Given the description of an element on the screen output the (x, y) to click on. 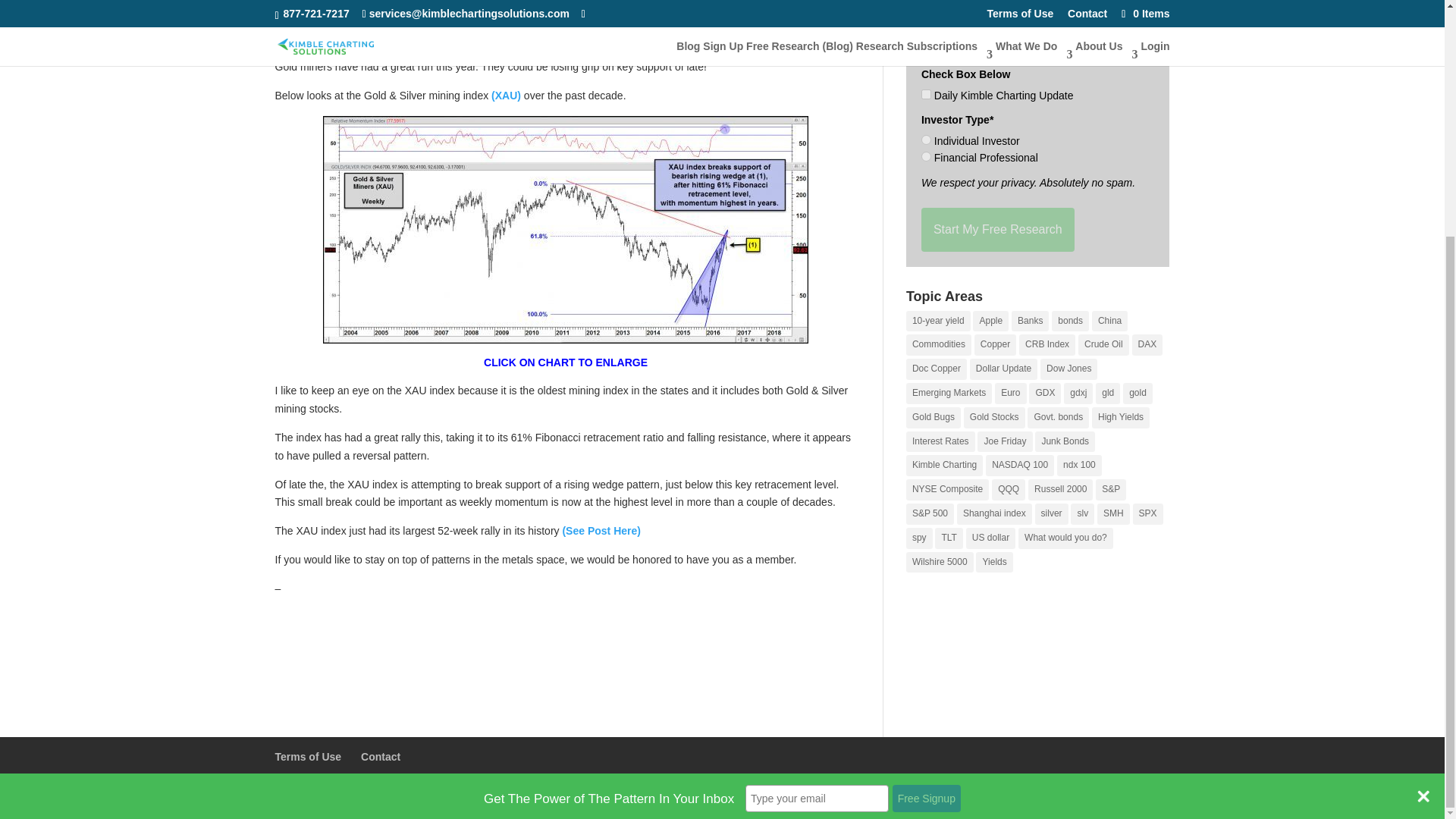
Daily Kimble Charting Update (926, 94)
Financial Professional (926, 156)
Individual Investor (926, 139)
16Wells (657, 797)
